Given the description of an element on the screen output the (x, y) to click on. 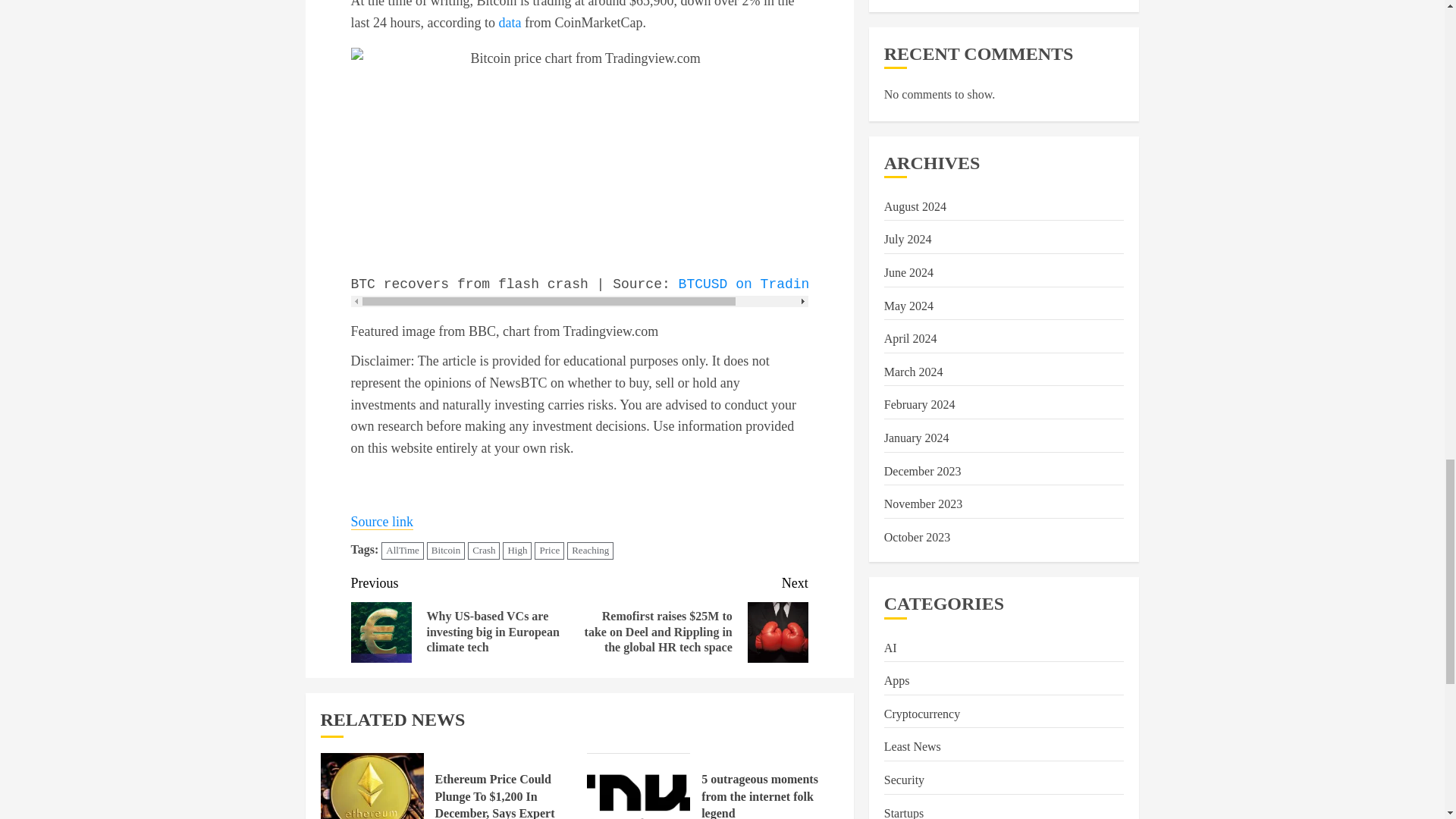
Crash (483, 550)
BTCUSD on Tradingview.com (780, 283)
Bitcoin (445, 550)
AllTime (402, 550)
data (509, 22)
Source link (381, 521)
